Given the description of an element on the screen output the (x, y) to click on. 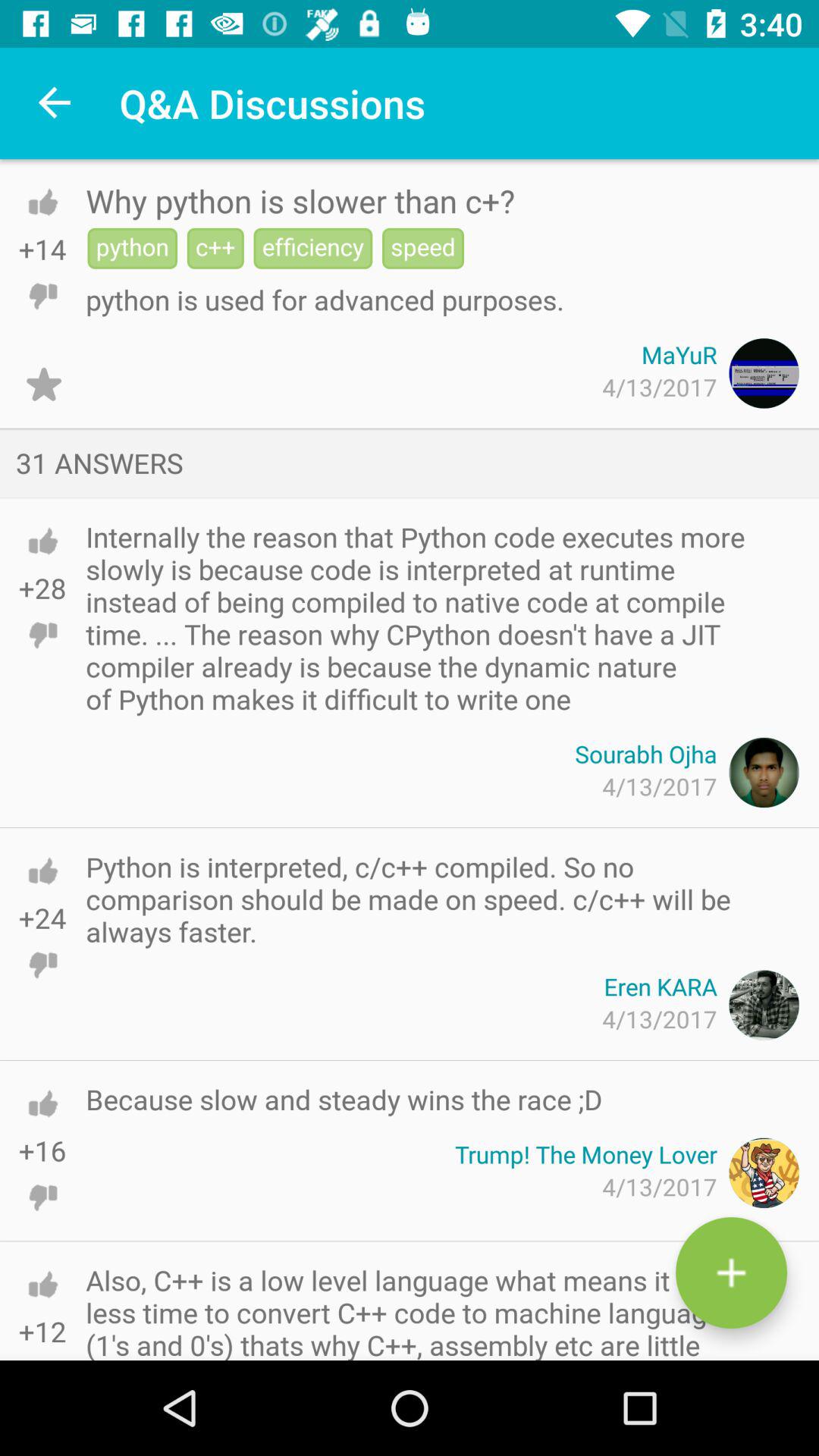
upvote answer (42, 541)
